Given the description of an element on the screen output the (x, y) to click on. 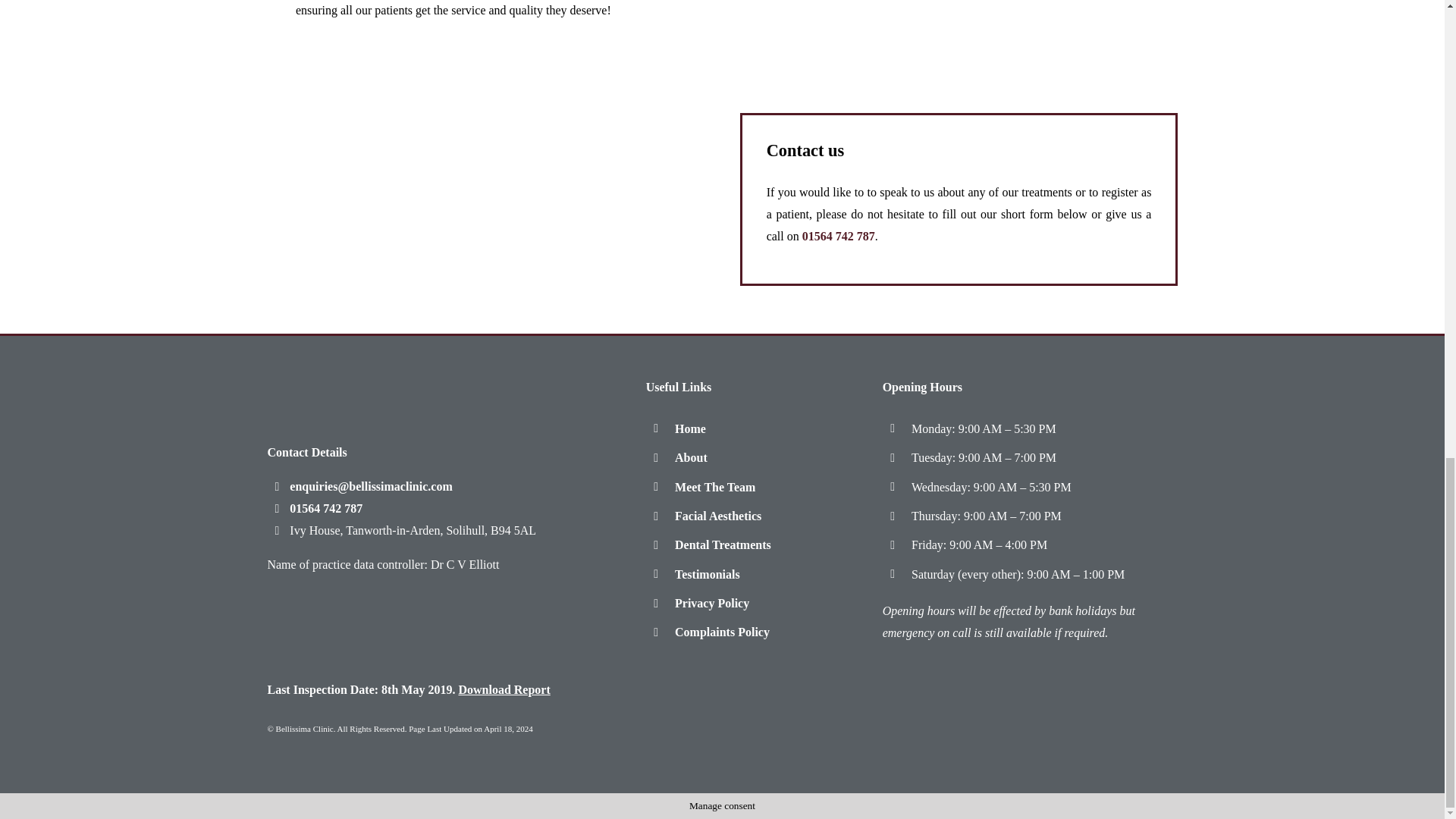
Download Report (504, 689)
01564 742 787 (838, 236)
01564 742 787 (314, 508)
